Given the description of an element on the screen output the (x, y) to click on. 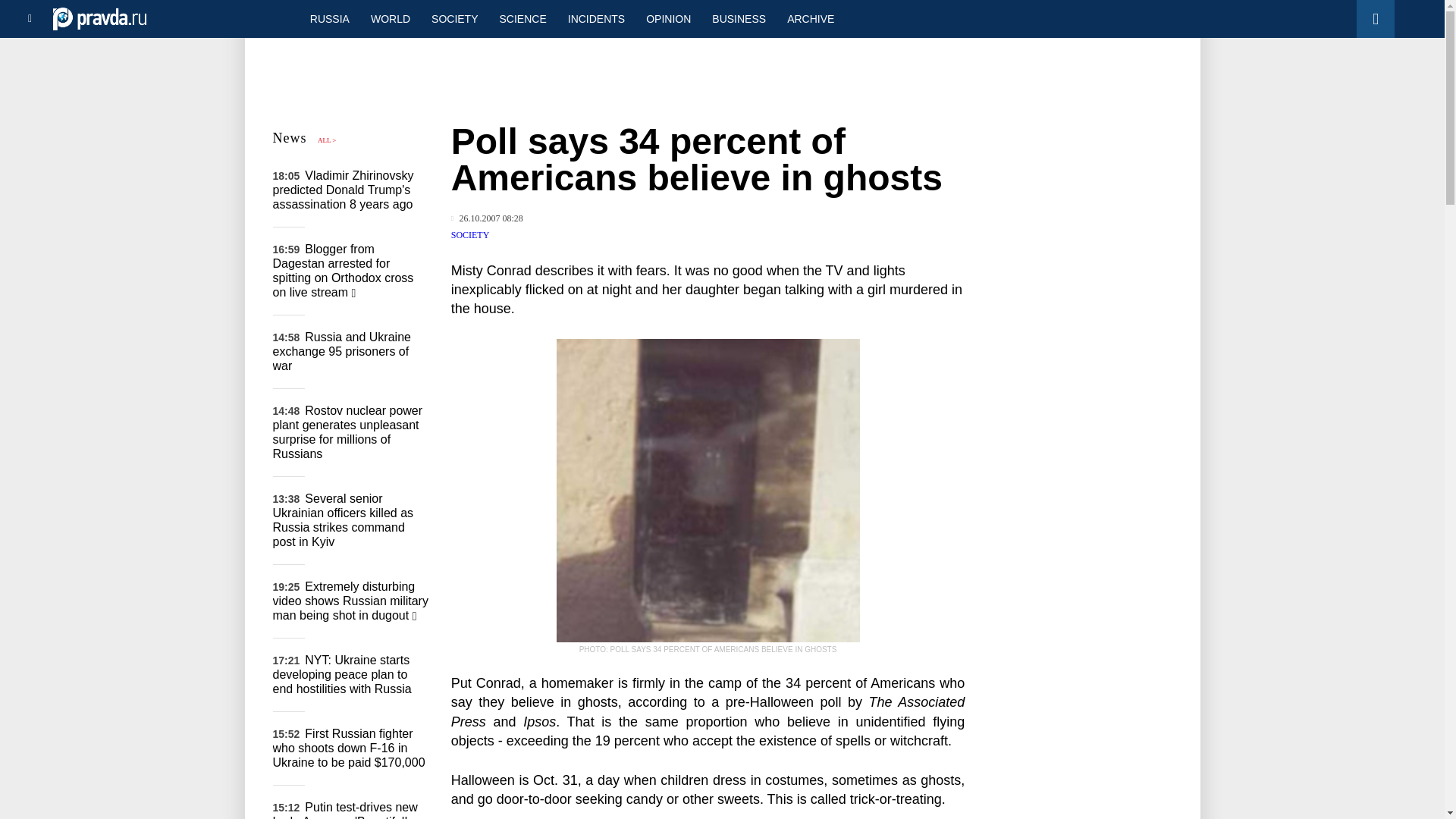
ARCHIVE (810, 18)
OPINION (667, 18)
News (290, 137)
BUSINESS (738, 18)
SOCIETY (453, 18)
SOCIETY (470, 235)
Poll says 34 percent of Americans believe in ghosts (708, 490)
WORLD (389, 18)
INCIDENTS (595, 18)
